Given the description of an element on the screen output the (x, y) to click on. 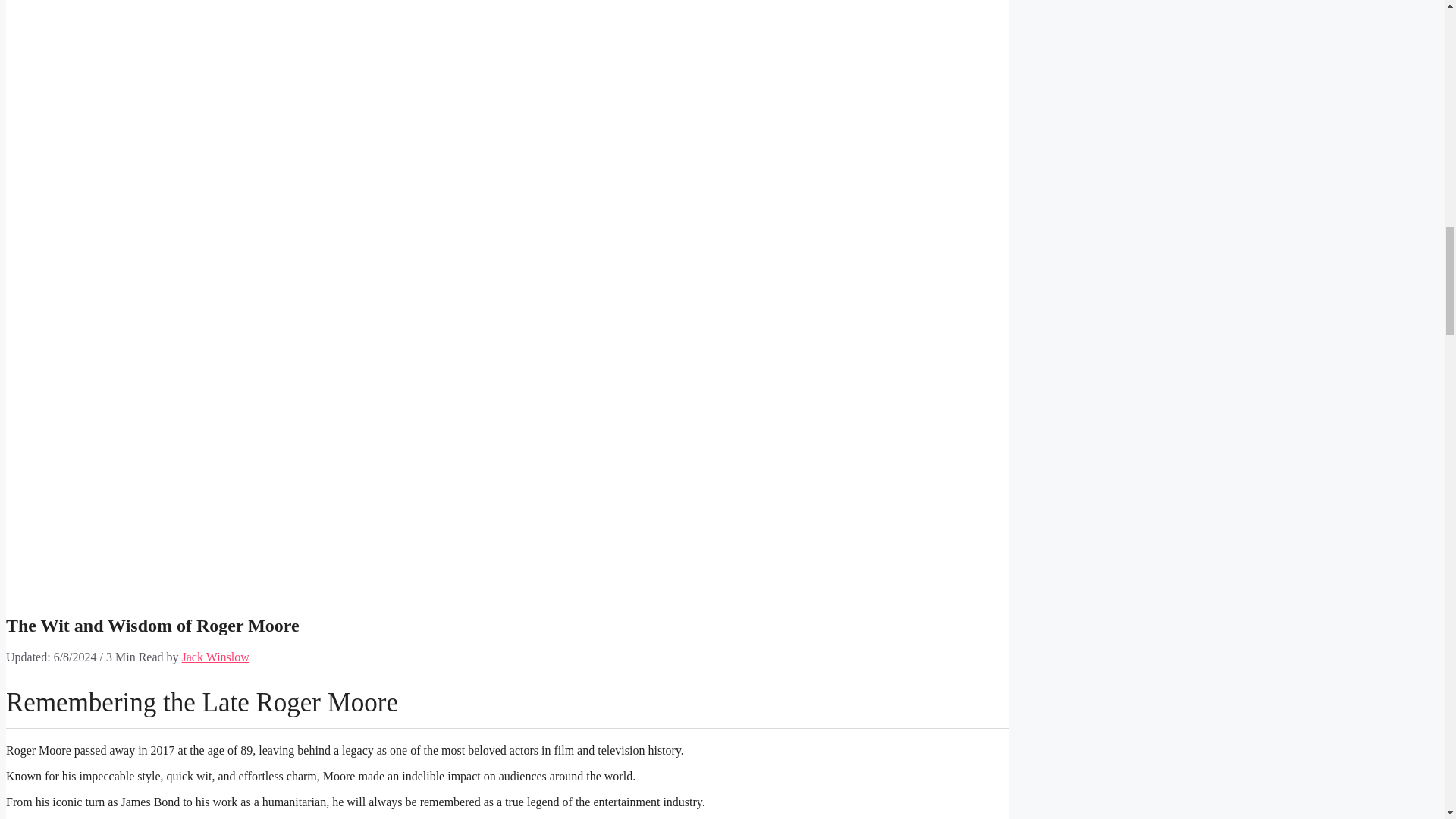
View all posts by Jack Winslow (215, 656)
Jack Winslow (215, 656)
